Given the description of an element on the screen output the (x, y) to click on. 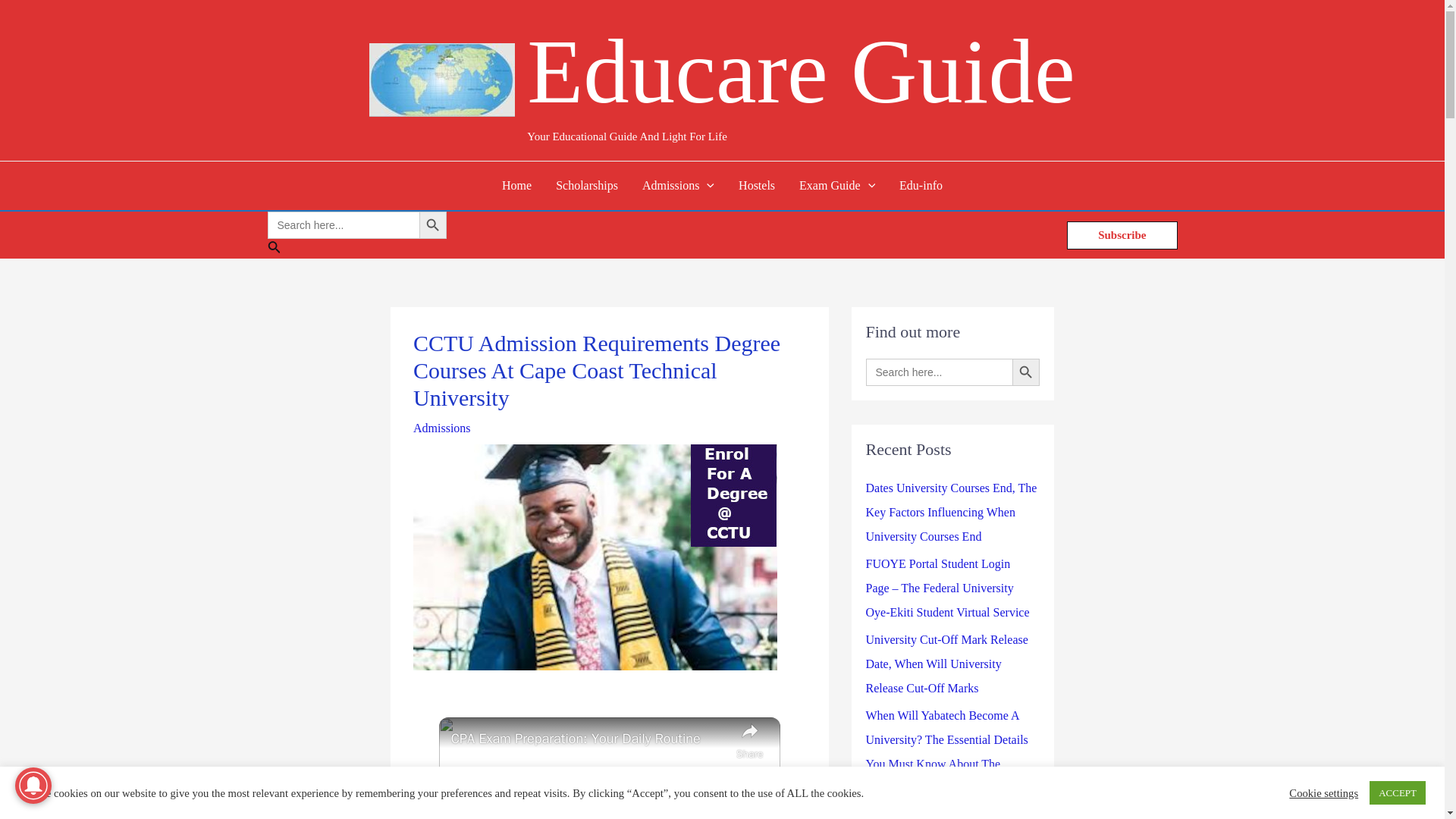
Search Button (432, 225)
Edu-info (920, 185)
Home (516, 185)
CPA Exam Preparation: Your Daily Routine (590, 738)
Hostels (756, 185)
Admissions (441, 427)
Search (355, 248)
Educare Guide (800, 71)
Scholarships (586, 185)
Subscribe (1121, 235)
Play Video (608, 805)
Admissions (678, 185)
Play Video (608, 805)
Exam Guide (836, 185)
